Given the description of an element on the screen output the (x, y) to click on. 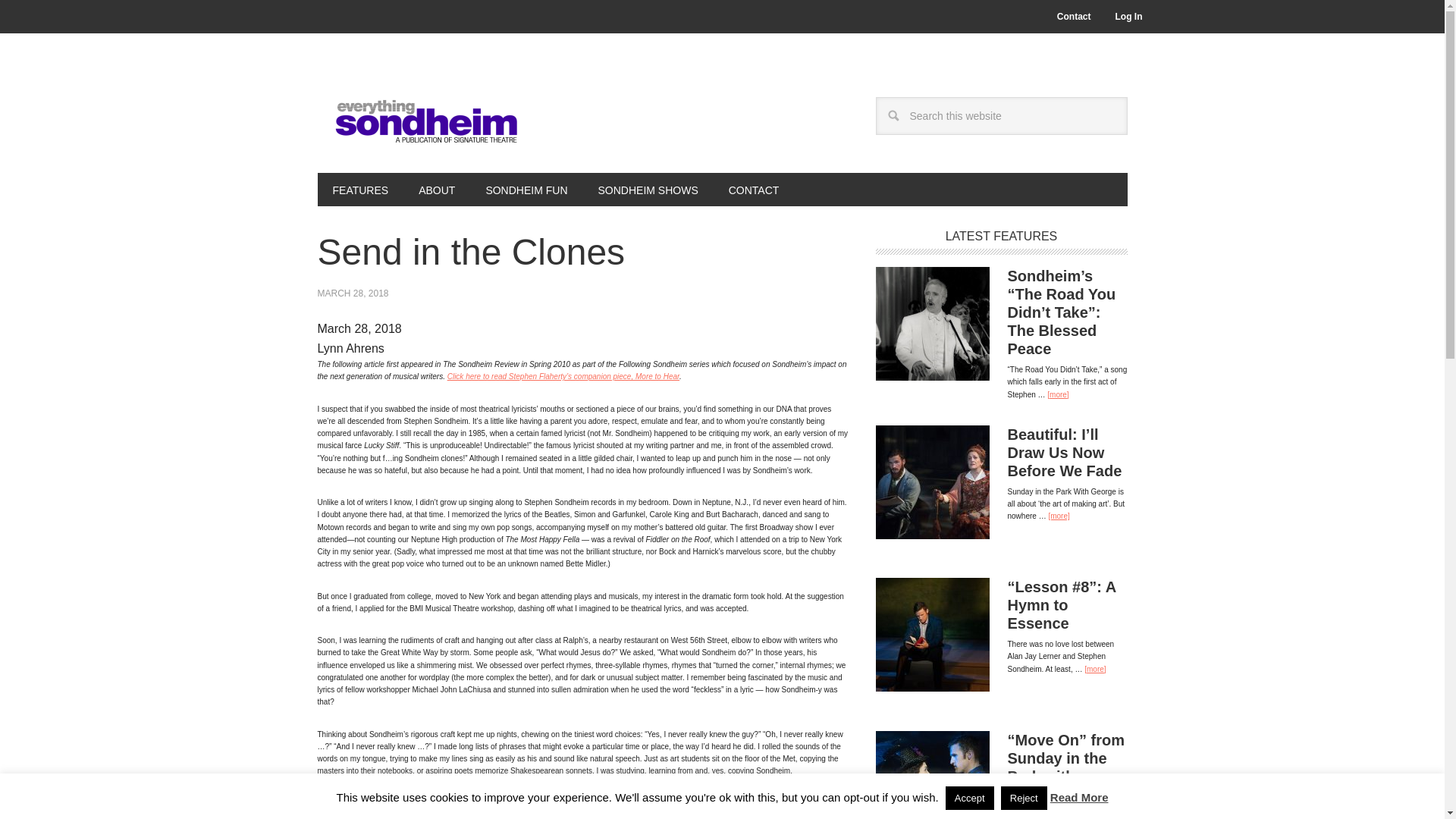
CONTACT (753, 189)
EVERYTHING SONDHEIM (419, 115)
SONDHEIM FUN (526, 189)
ABOUT (436, 189)
SONDHEIM SHOWS (647, 189)
Contact (1074, 16)
Log In (1128, 16)
FEATURES (360, 189)
